Given the description of an element on the screen output the (x, y) to click on. 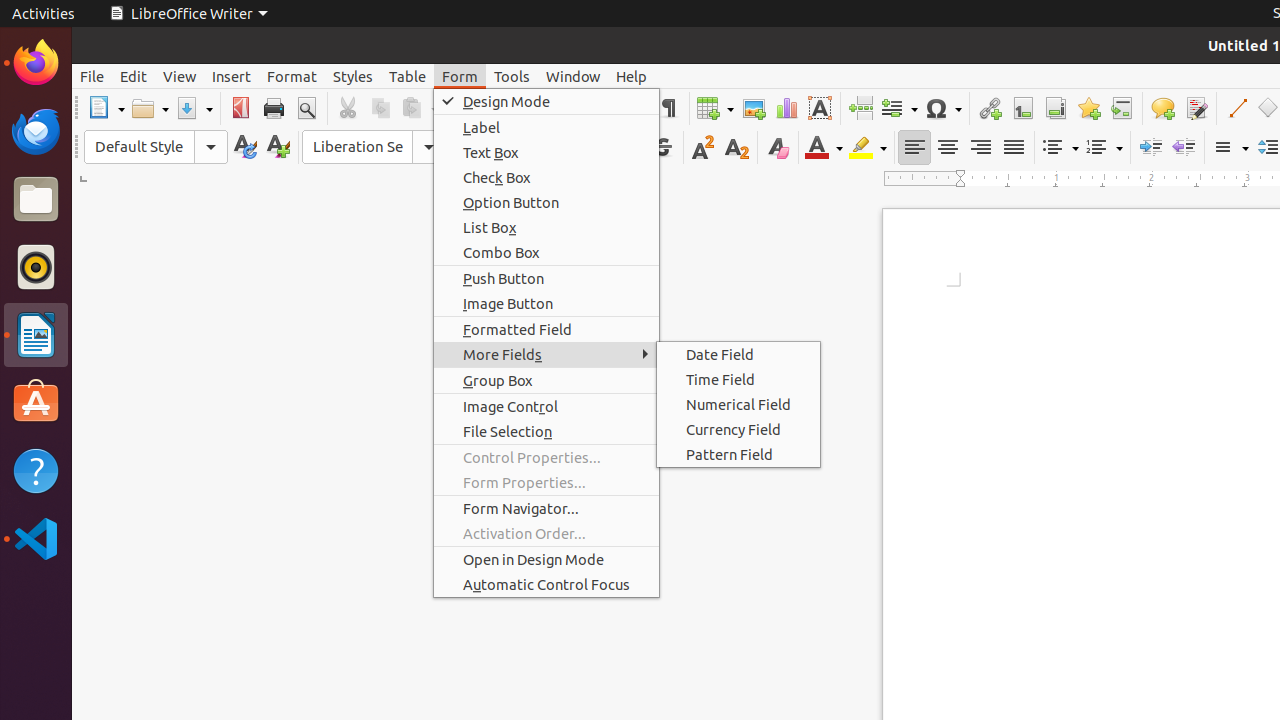
PDF Element type: push-button (240, 108)
Justified Element type: toggle-button (1013, 147)
Track Changes Functions Element type: toggle-button (1195, 108)
Redo Element type: push-button (556, 108)
Bookmark Element type: push-button (1088, 108)
